Given the description of an element on the screen output the (x, y) to click on. 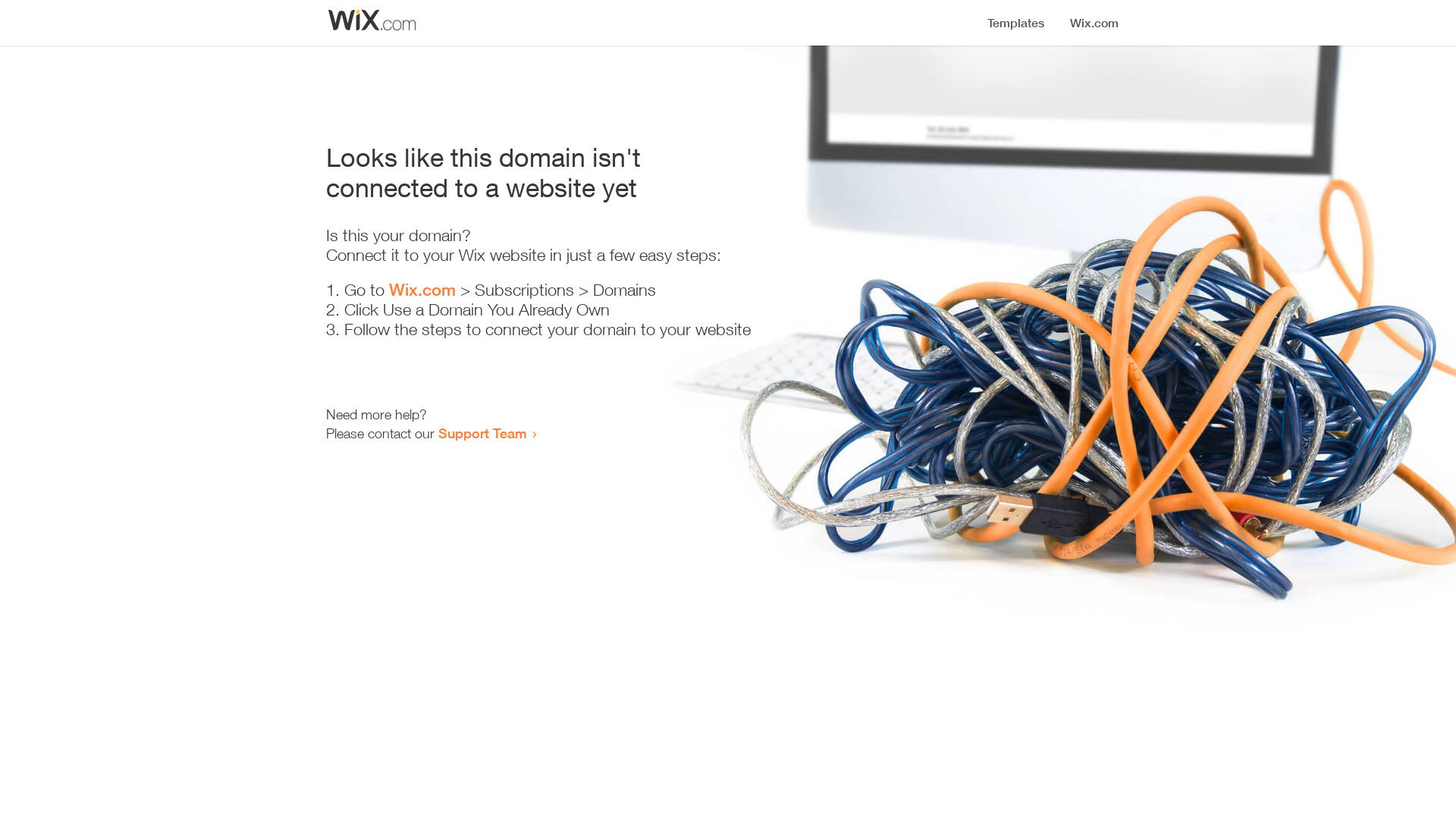
Wix.com Element type: text (422, 289)
Support Team Element type: text (482, 432)
